Given the description of an element on the screen output the (x, y) to click on. 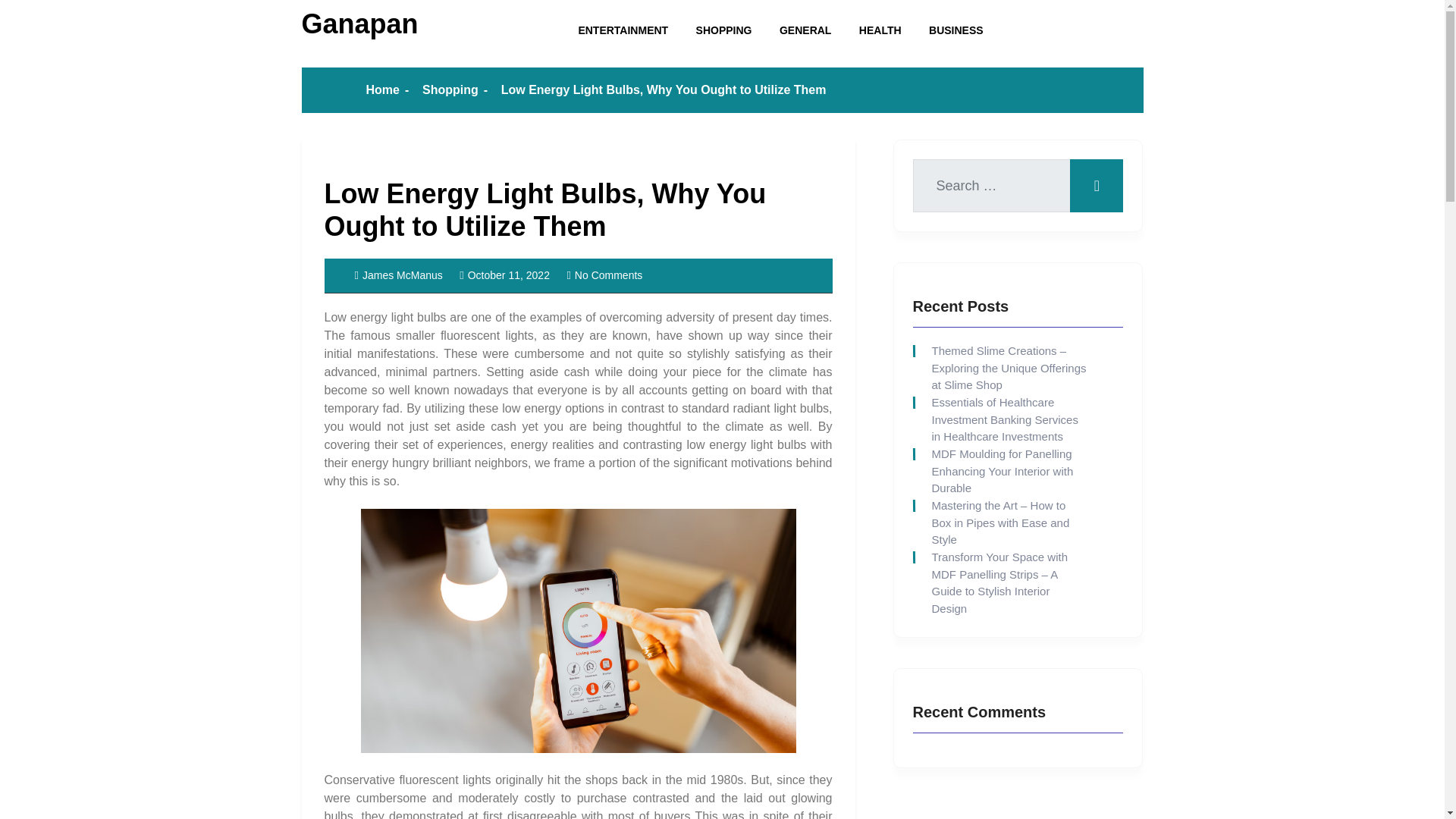
Low Energy Light Bulbs, Why You Ought to Utilize Them (545, 209)
ENTERTAINMENT (622, 30)
Ganapan (360, 23)
Shopping (450, 90)
HEALTH (880, 30)
October 11, 2022 (505, 275)
SHOPPING (724, 30)
James McManus (398, 275)
BUSINESS (956, 30)
GENERAL (805, 30)
No Comments (604, 275)
